Given the description of an element on the screen output the (x, y) to click on. 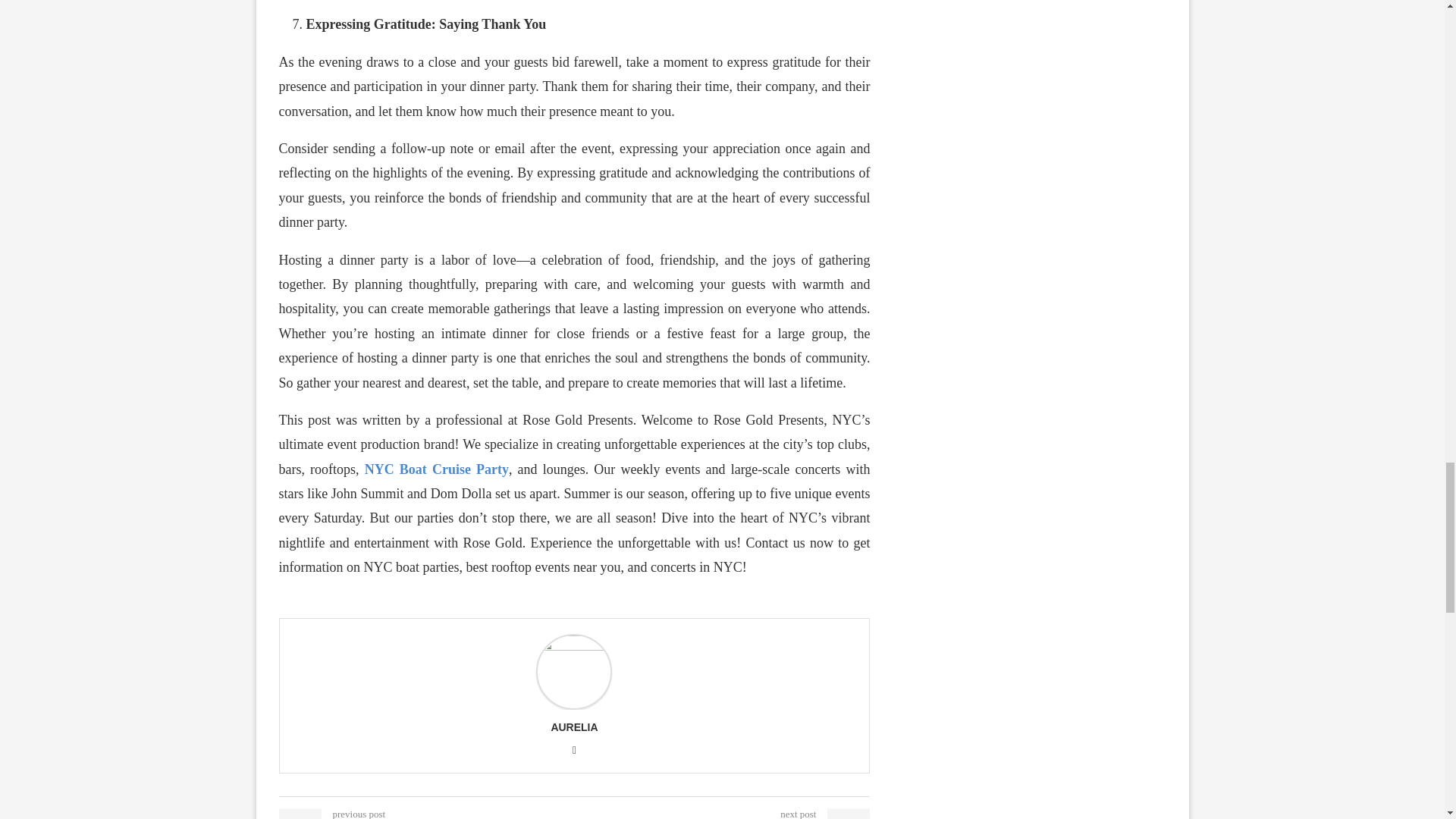
Author Aurelia (573, 727)
